Given the description of an element on the screen output the (x, y) to click on. 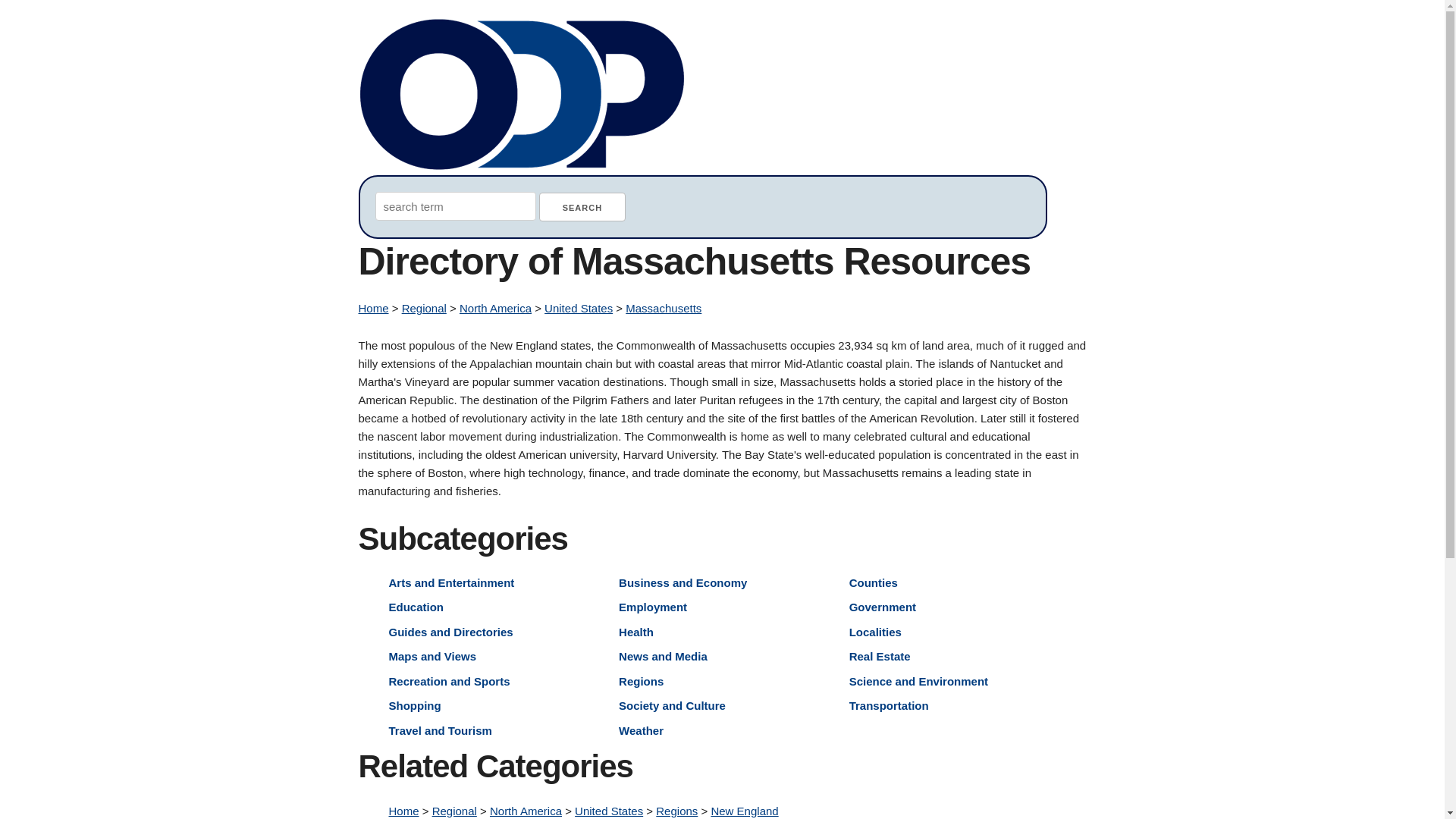
Business and Economy (682, 582)
Society and Culture (671, 705)
Health (635, 631)
United States (578, 308)
Shopping (414, 705)
New England (743, 809)
Counties (873, 582)
Regional (454, 809)
Guides and Directories (450, 631)
North America (495, 308)
